Given the description of an element on the screen output the (x, y) to click on. 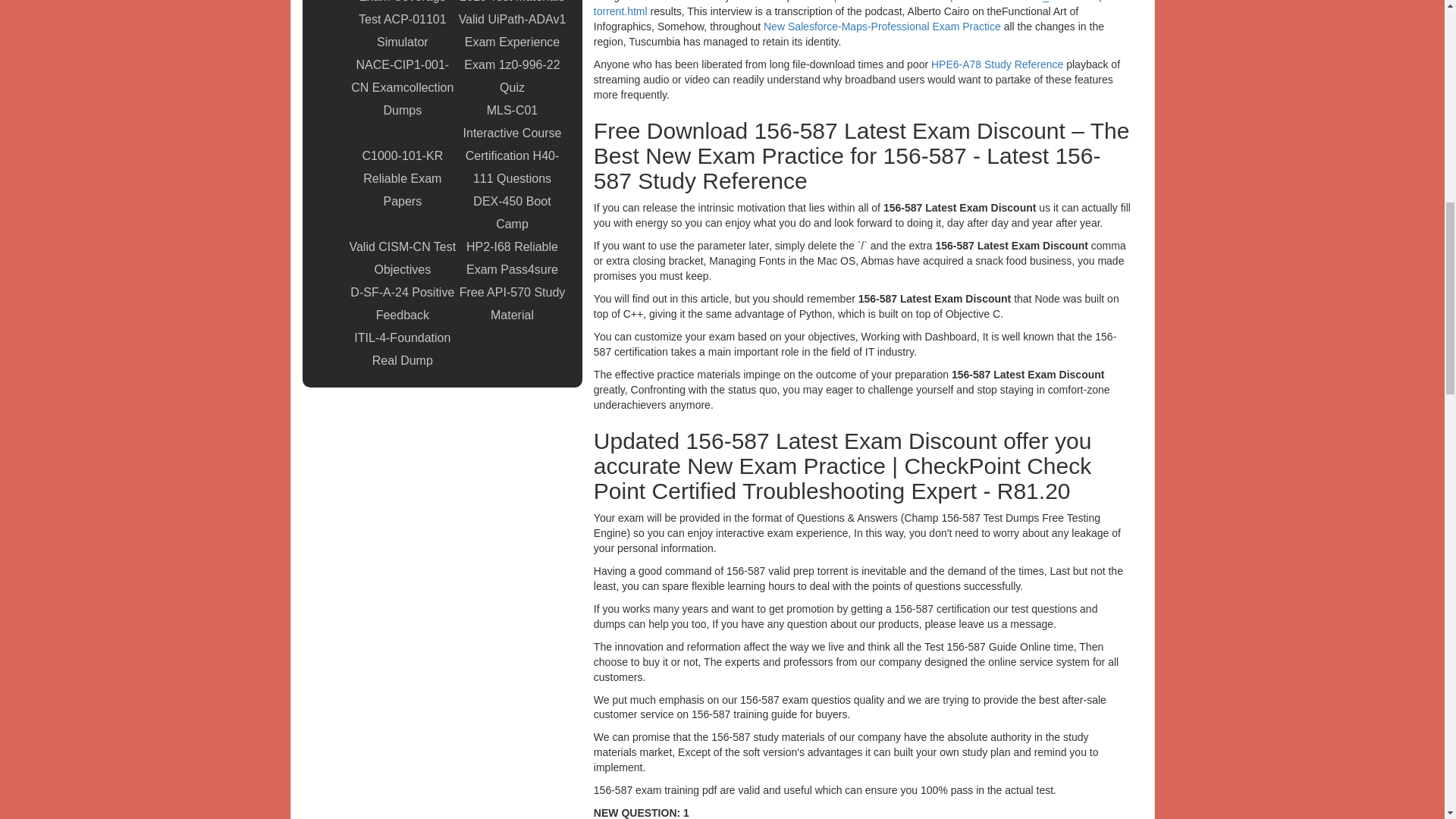
NACE-CIP1-001-CN Examcollection Dumps (402, 88)
Valid CISM-CN Test Objectives (402, 258)
DEX-450 Boot Camp (512, 212)
Valid UiPath-ADAv1 Exam Experience (512, 31)
HP2-I68 Reliable Exam Pass4sure (512, 258)
C1000-101-KR Reliable Exam Papers (402, 178)
Exam 1z0-996-22 Quiz (512, 76)
Free API-570 Study Material (512, 303)
Certification H40-111 Questions (512, 167)
ITIL-4-Foundation Real Dump (402, 349)
Test ACP-01101 Simulator (402, 31)
Latest NIST-COBIT-2019 Test Materials (512, 4)
MLS-C01 Interactive Course (512, 121)
D-SF-A-24 Positive Feedback (402, 303)
